Given the description of an element on the screen output the (x, y) to click on. 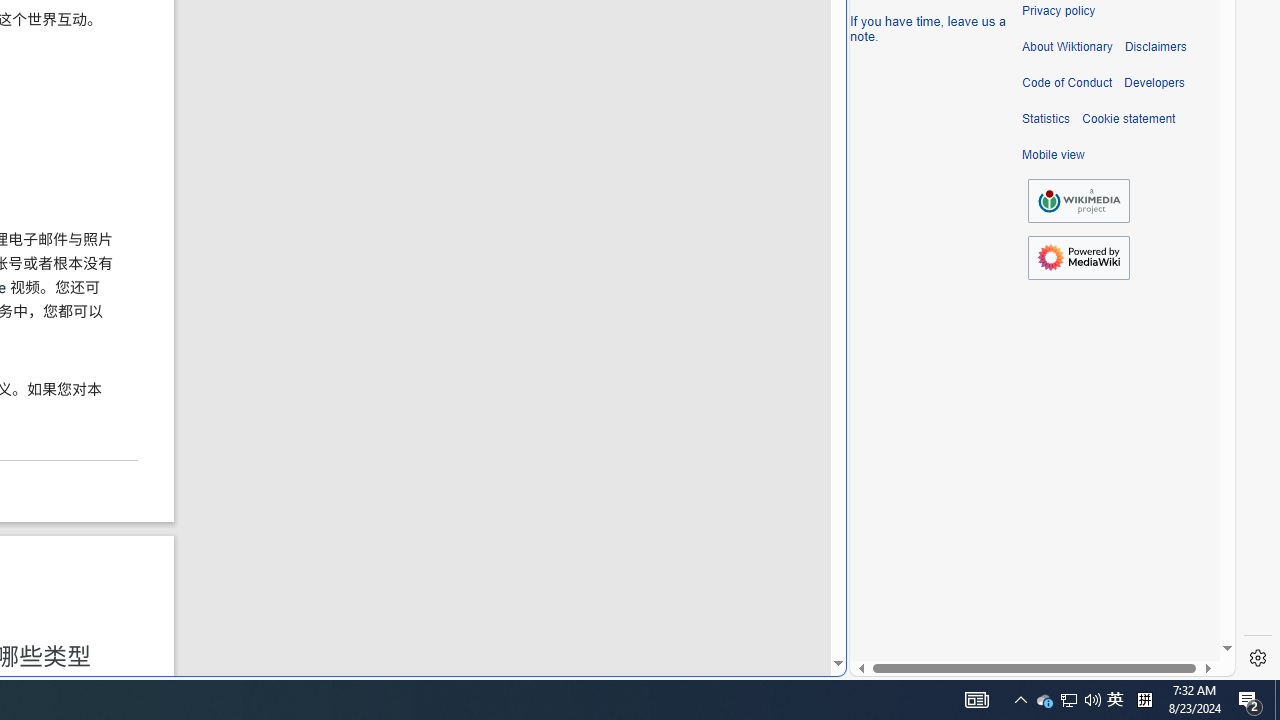
Powered by MediaWiki (1078, 257)
If you have time, leave us a note. (927, 27)
Mobile view (1053, 155)
Developers (1154, 83)
Cookie statement (1128, 119)
